Given the description of an element on the screen output the (x, y) to click on. 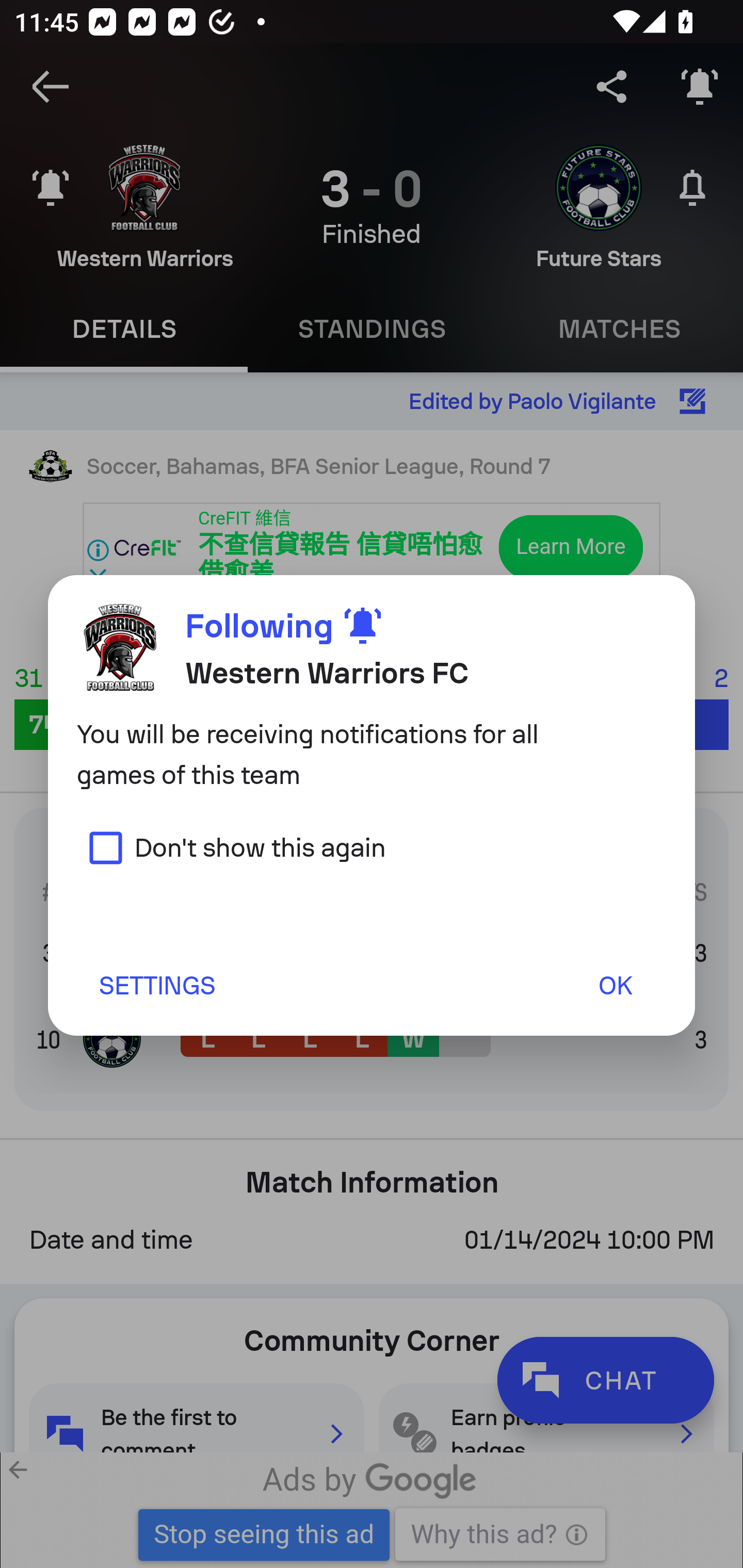
Don't show this again (231, 847)
SETTINGS (156, 985)
OK (615, 985)
